Given the description of an element on the screen output the (x, y) to click on. 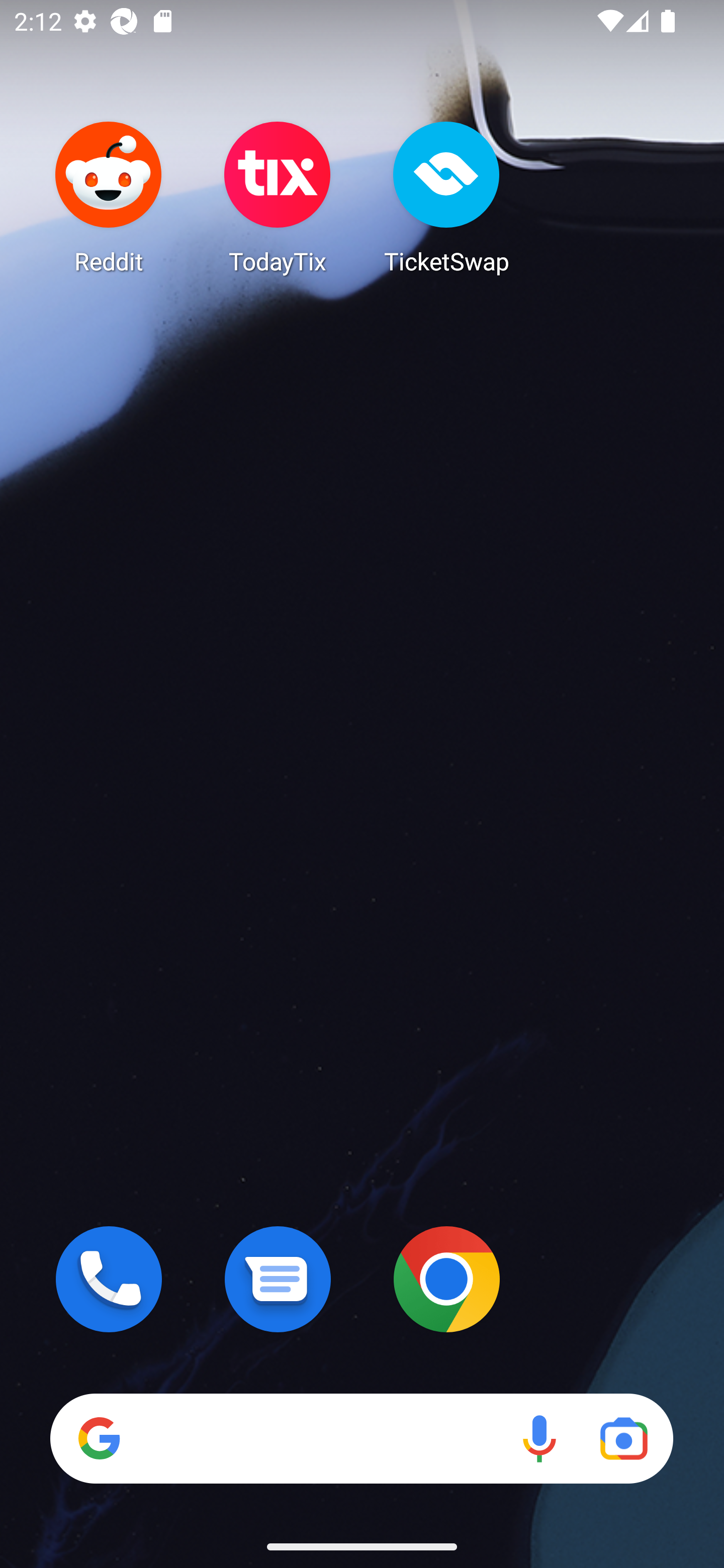
Reddit (108, 196)
TodayTix (277, 196)
TicketSwap (445, 196)
Phone (108, 1279)
Messages (277, 1279)
Chrome (446, 1279)
Voice search (539, 1438)
Google Lens (623, 1438)
